Given the description of an element on the screen output the (x, y) to click on. 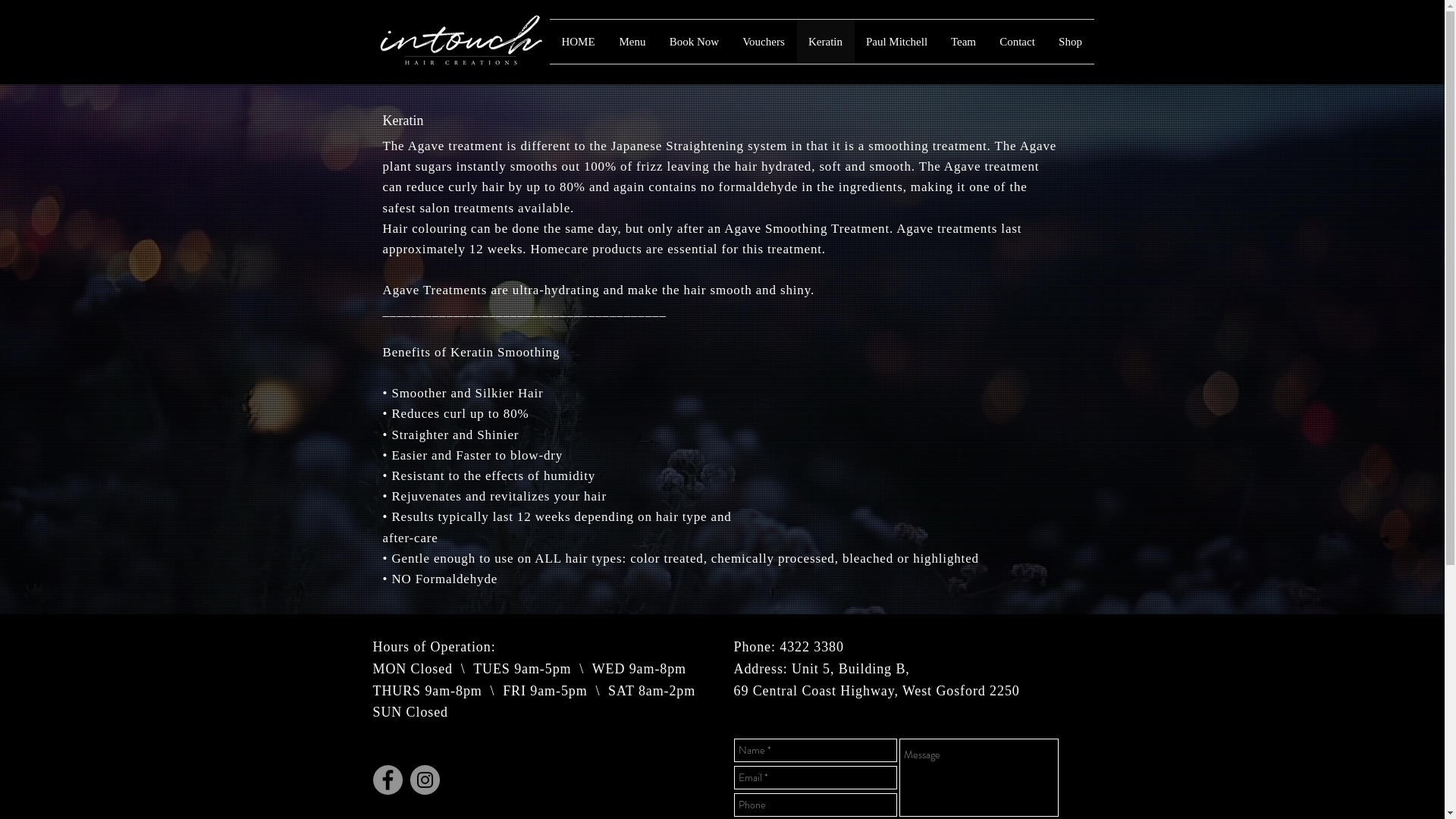
HOME Element type: text (577, 41)
Team Element type: text (962, 41)
Contact Element type: text (1016, 41)
Book Now Element type: text (694, 41)
Keratin Element type: text (824, 41)
Paul Mitchell Element type: text (895, 41)
Vouchers Element type: text (764, 41)
Shop Element type: text (1069, 41)
Menu Element type: text (631, 41)
